Given the description of an element on the screen output the (x, y) to click on. 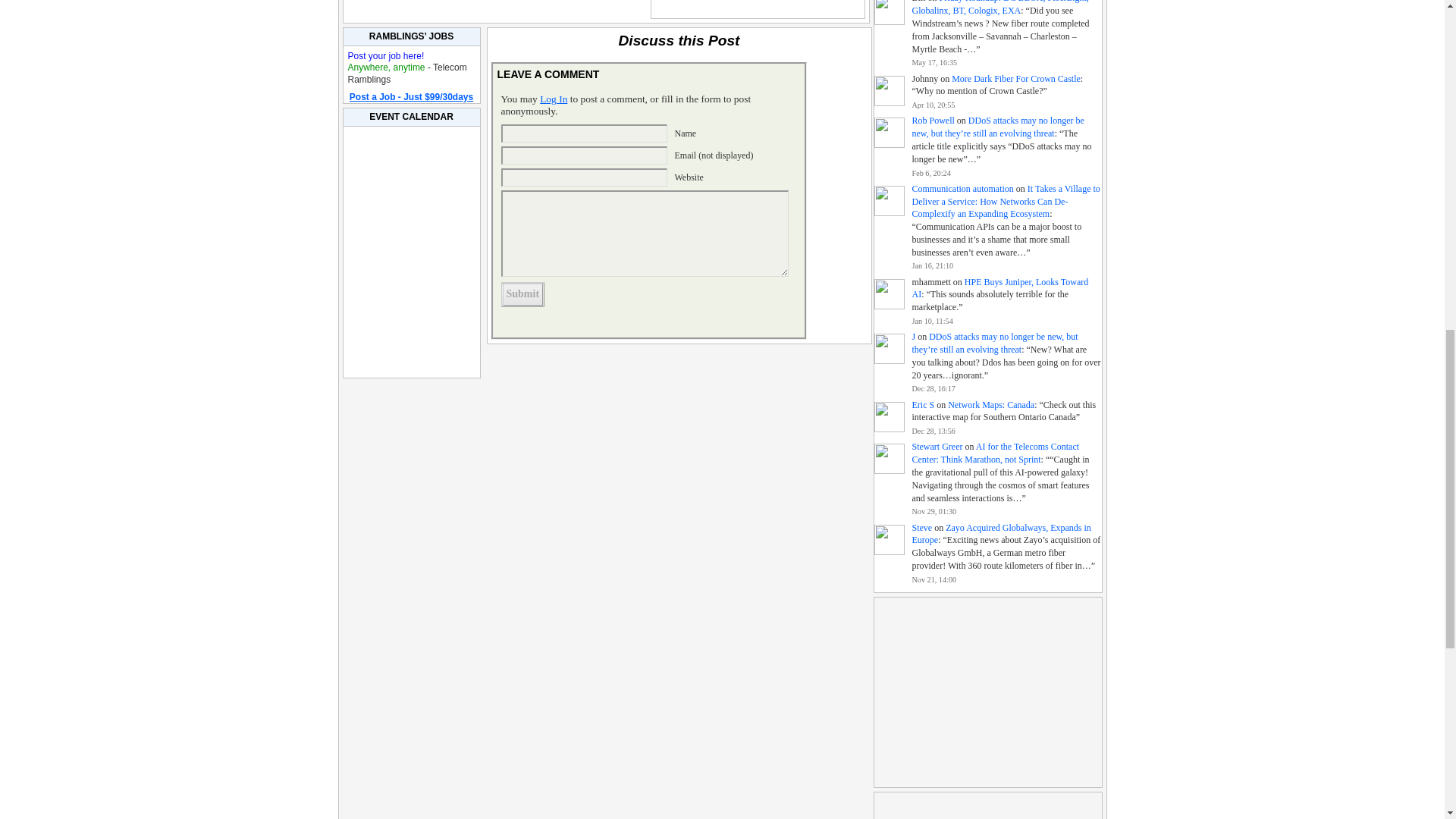
Submit (522, 294)
3rd party ad content (986, 692)
3rd party ad content (986, 805)
